Given the description of an element on the screen output the (x, y) to click on. 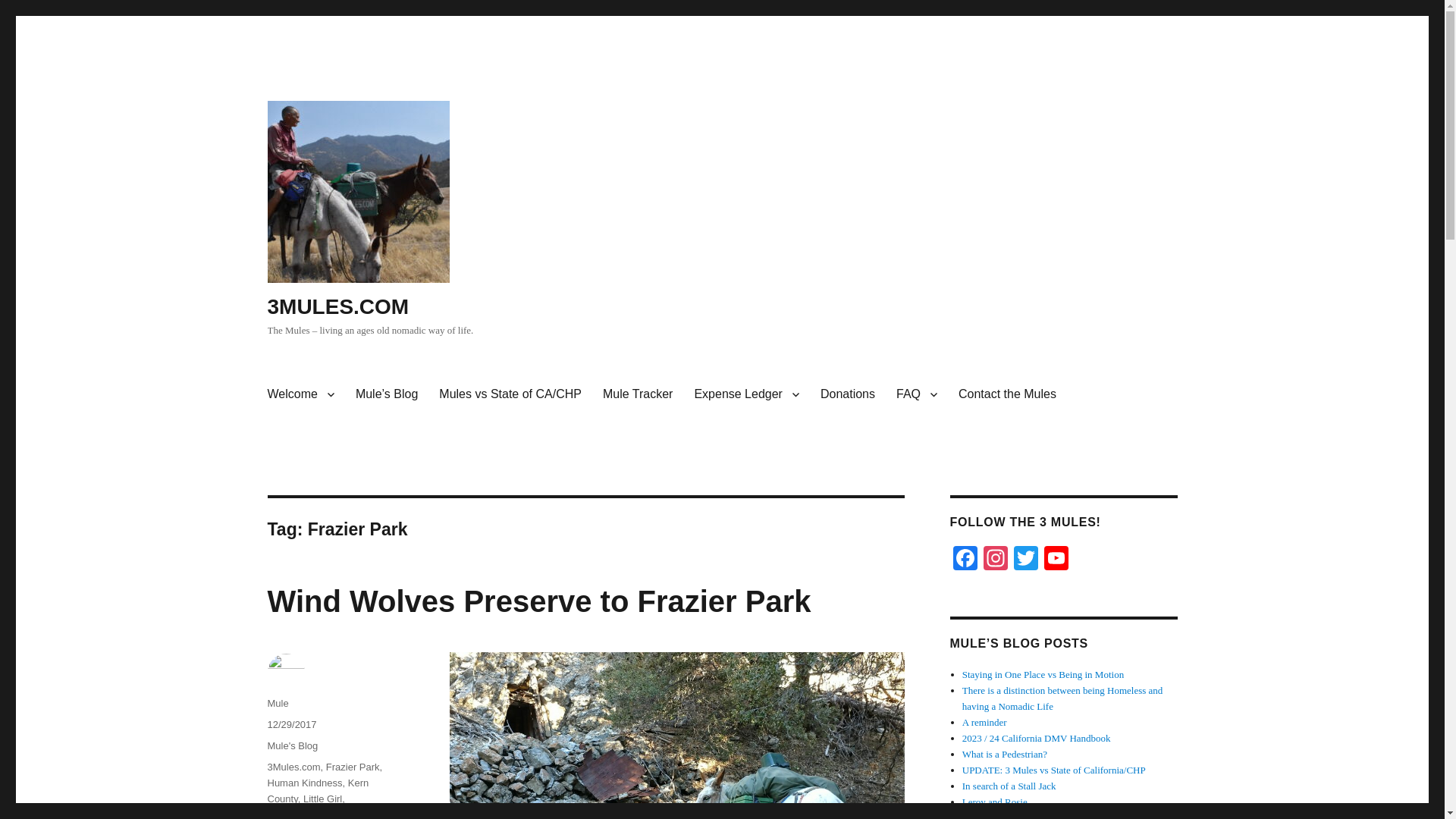
Twitter (1025, 560)
Human Kindness (304, 782)
Little Girl (322, 798)
Mule (277, 703)
Contact the Mules (1007, 394)
Wind Wolves Preserve to Frazier Park (538, 601)
FAQ (916, 394)
Frazier Park (353, 767)
Kern County (317, 790)
Instagram (994, 560)
Expense Ledger (745, 394)
Facebook (964, 560)
Welcome (299, 394)
Donations (847, 394)
3Mules.com (293, 767)
